Given the description of an element on the screen output the (x, y) to click on. 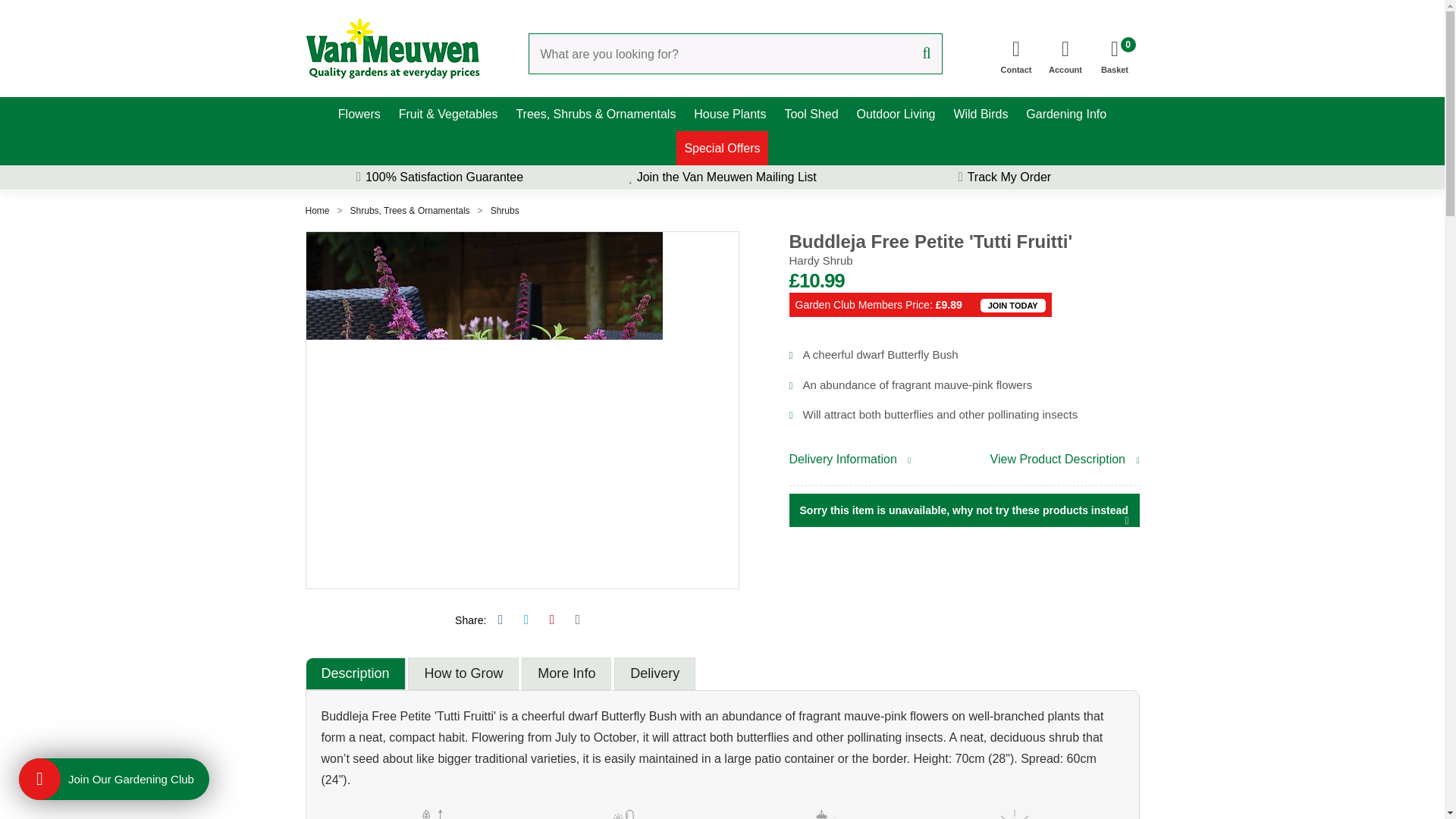
Account (1065, 52)
Contact (1016, 52)
Flowers (359, 114)
Van Meuwen (1115, 52)
